Given the description of an element on the screen output the (x, y) to click on. 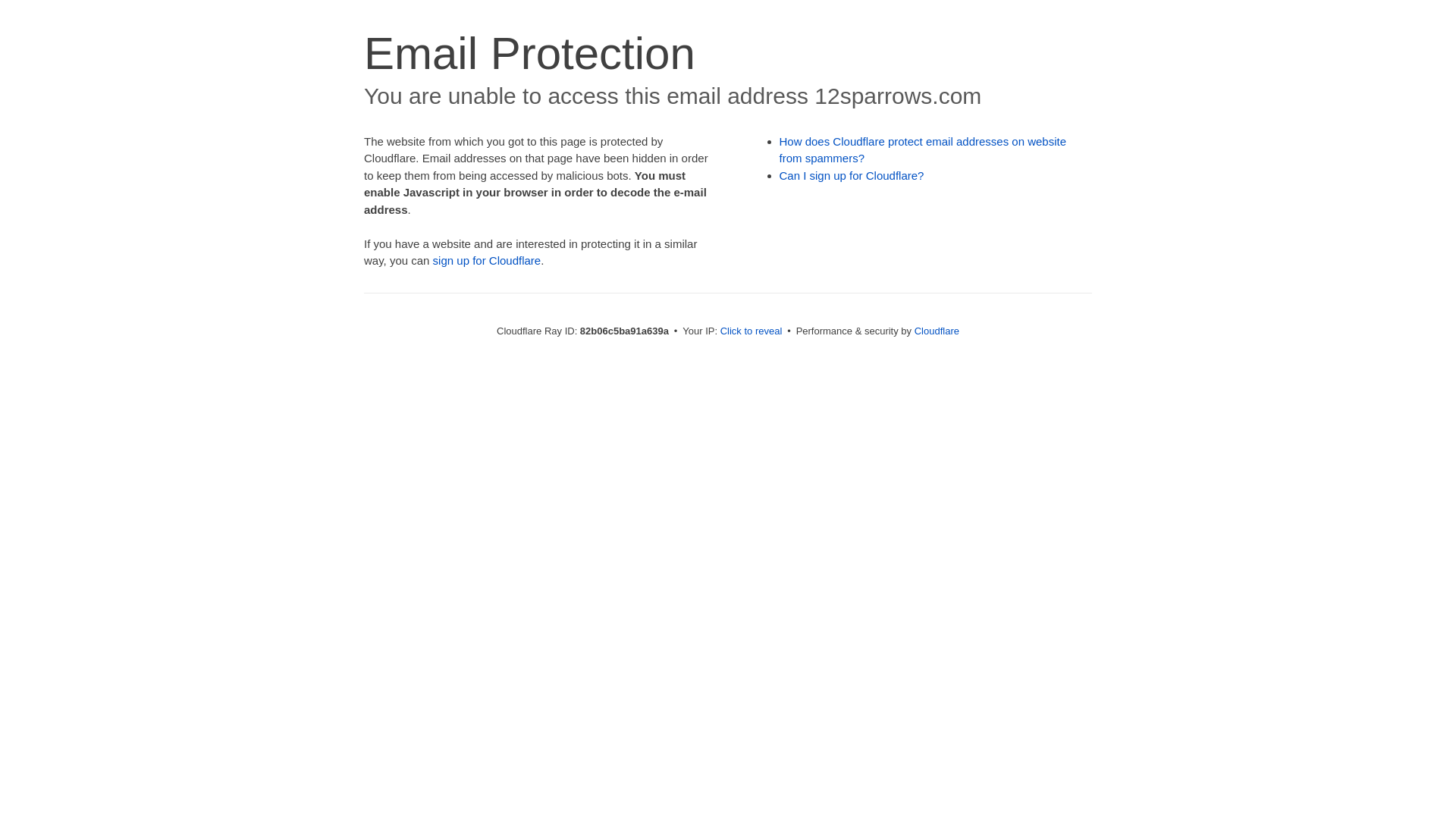
Can I sign up for Cloudflare? Element type: text (851, 175)
sign up for Cloudflare Element type: text (487, 260)
Cloudflare Element type: text (936, 330)
Click to reveal Element type: text (751, 330)
